Given the description of an element on the screen output the (x, y) to click on. 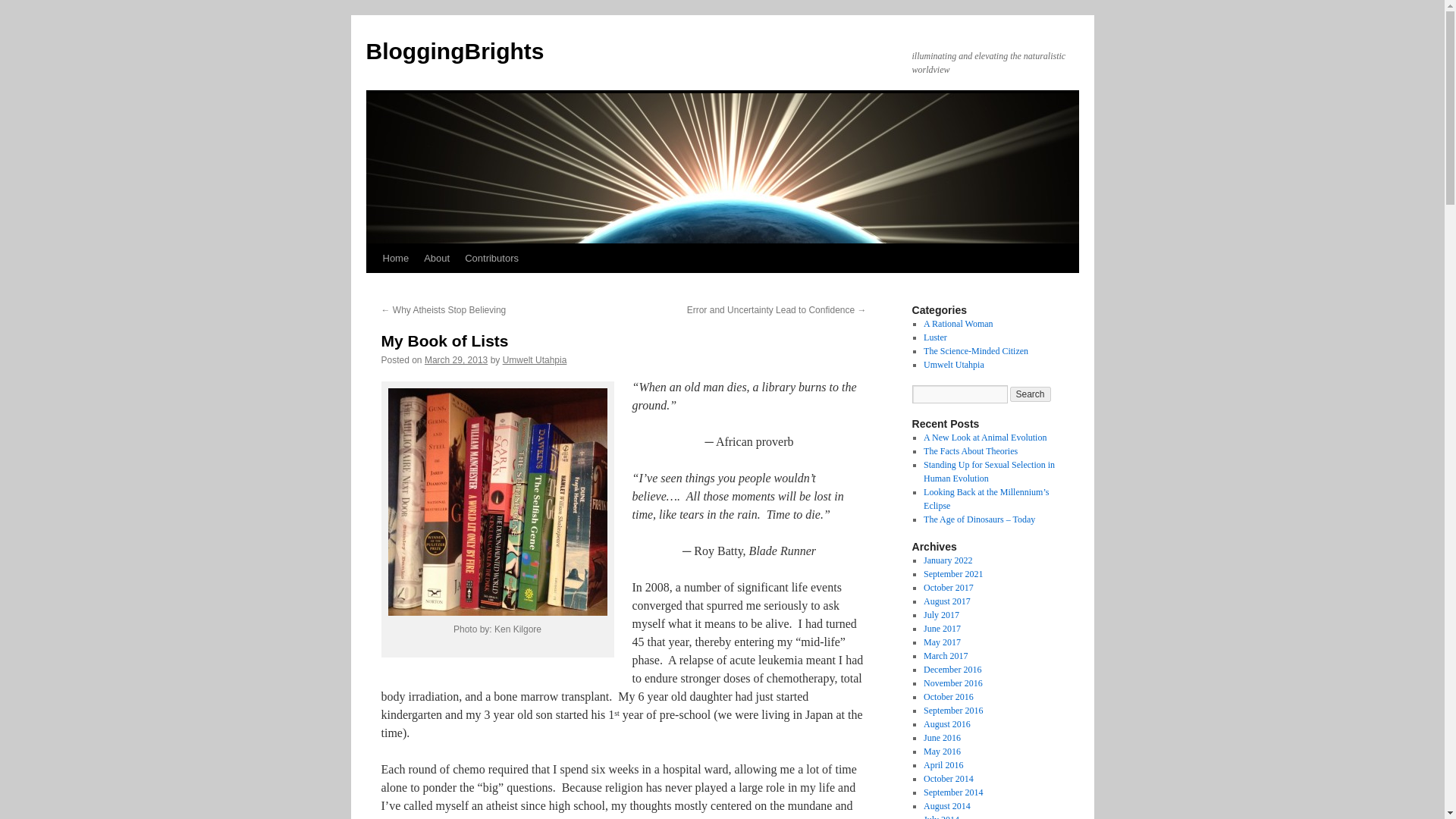
BloggingBrights (454, 50)
Luster (935, 337)
Home (395, 258)
January 2022 (947, 560)
Contributors (491, 258)
Search (1030, 394)
The Facts About Theories (970, 450)
About (436, 258)
The Science-Minded Citizen (975, 350)
A Rational Woman (957, 323)
